Given the description of an element on the screen output the (x, y) to click on. 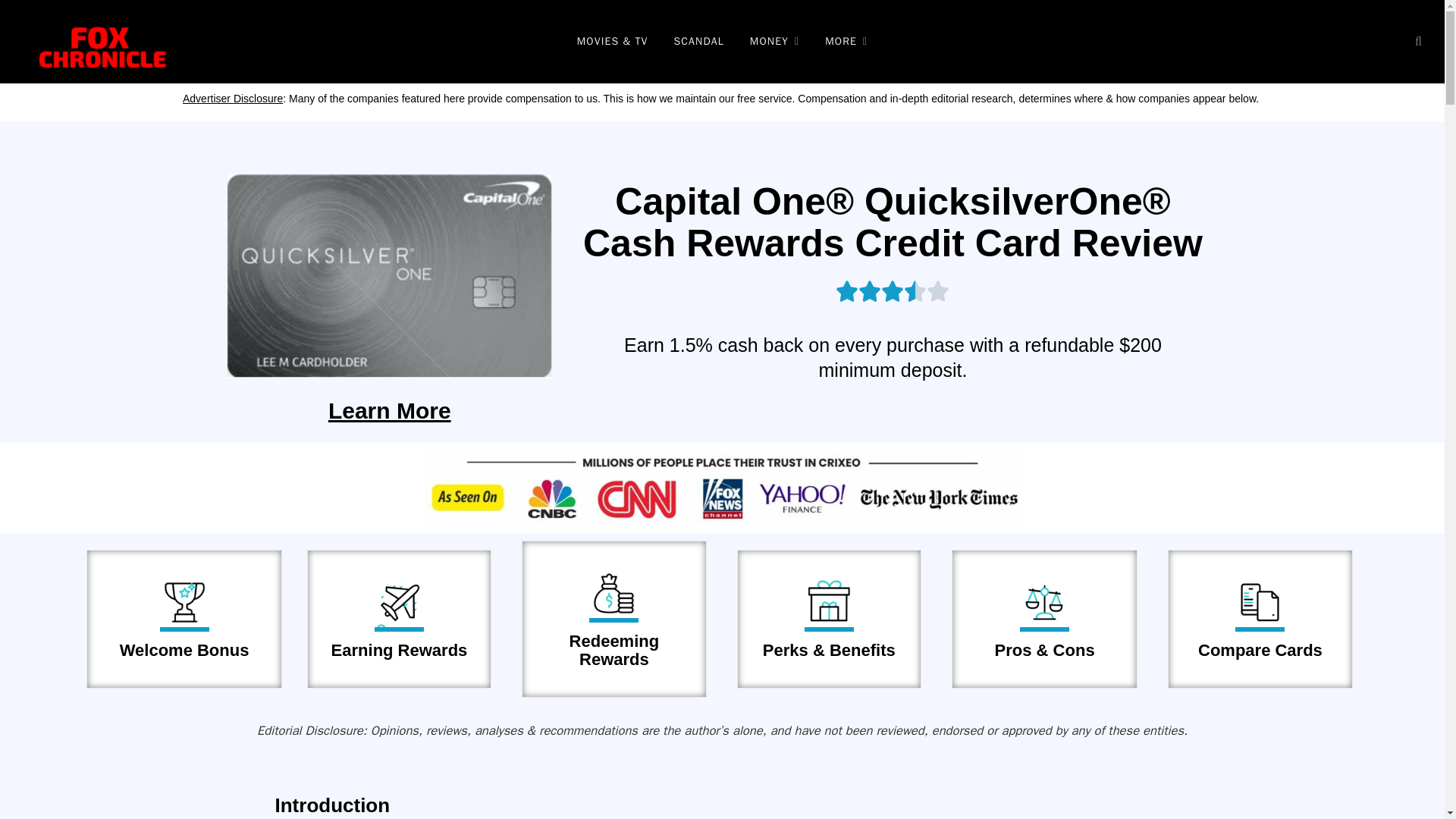
Fox Chronicle (97, 41)
SCANDAL (698, 41)
MONEY (774, 41)
